Given the description of an element on the screen output the (x, y) to click on. 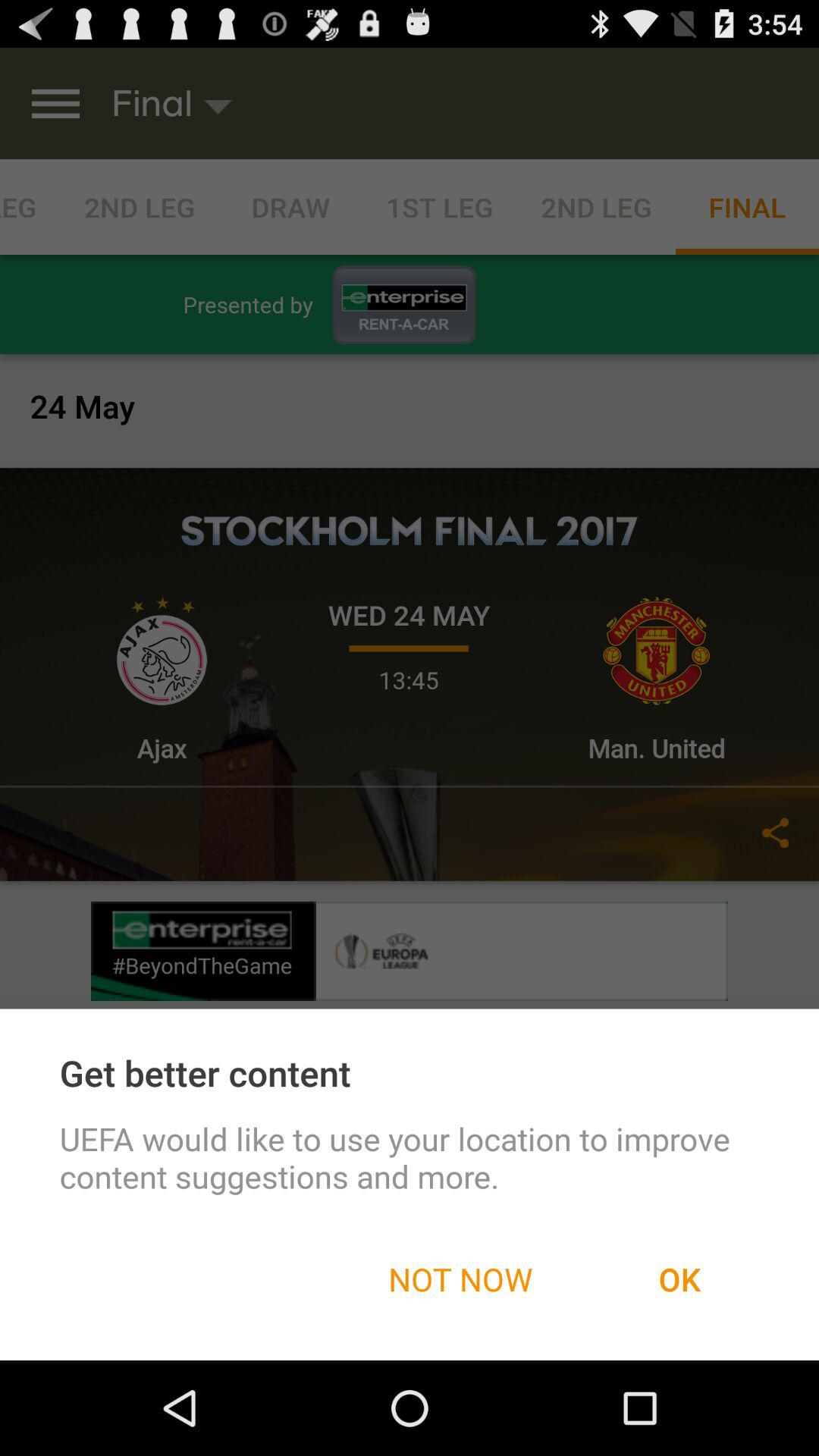
turn off item below the uefa would like item (679, 1278)
